Given the description of an element on the screen output the (x, y) to click on. 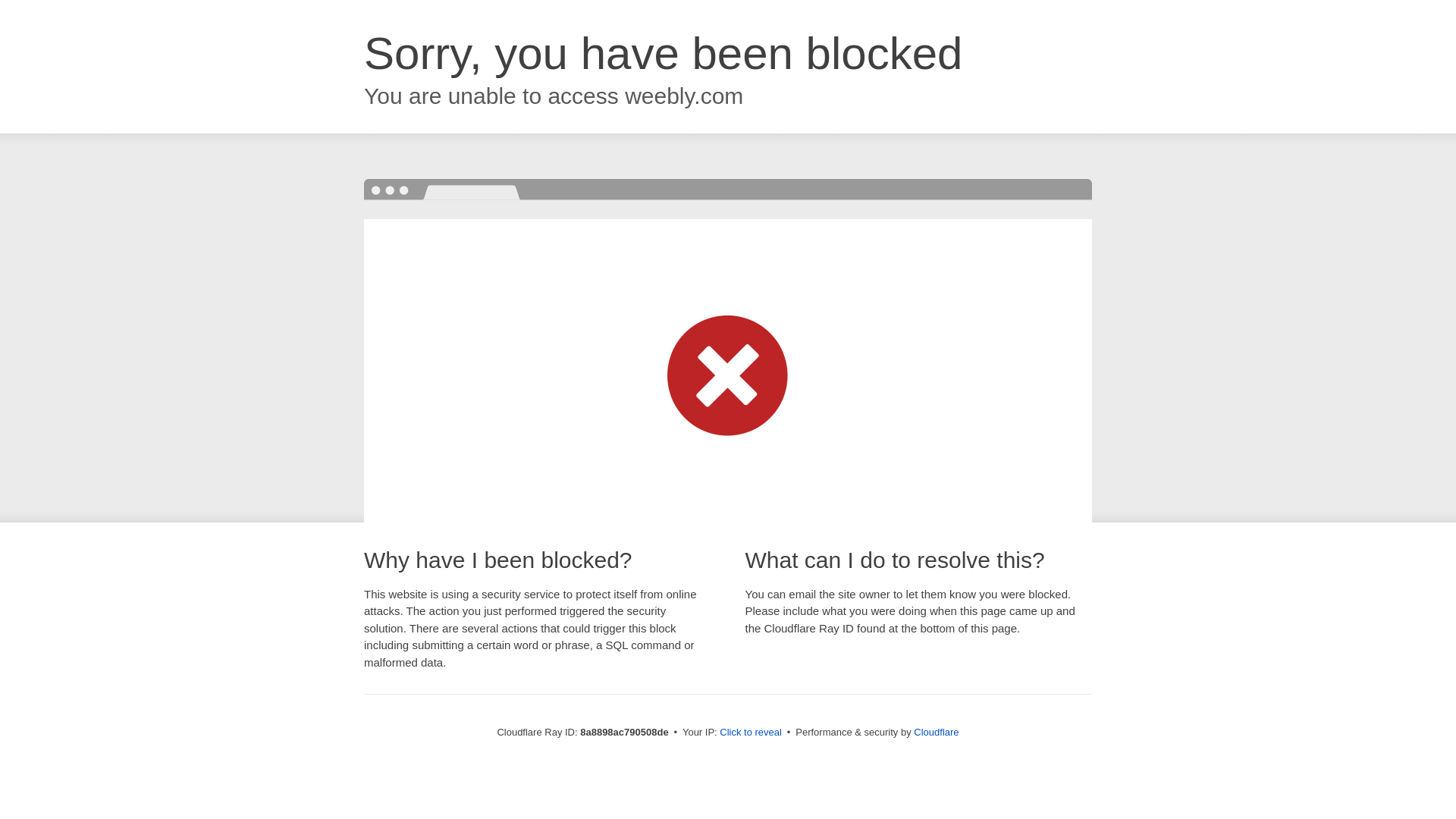
Click to reveal (750, 732)
Cloudflare (936, 731)
